Given the description of an element on the screen output the (x, y) to click on. 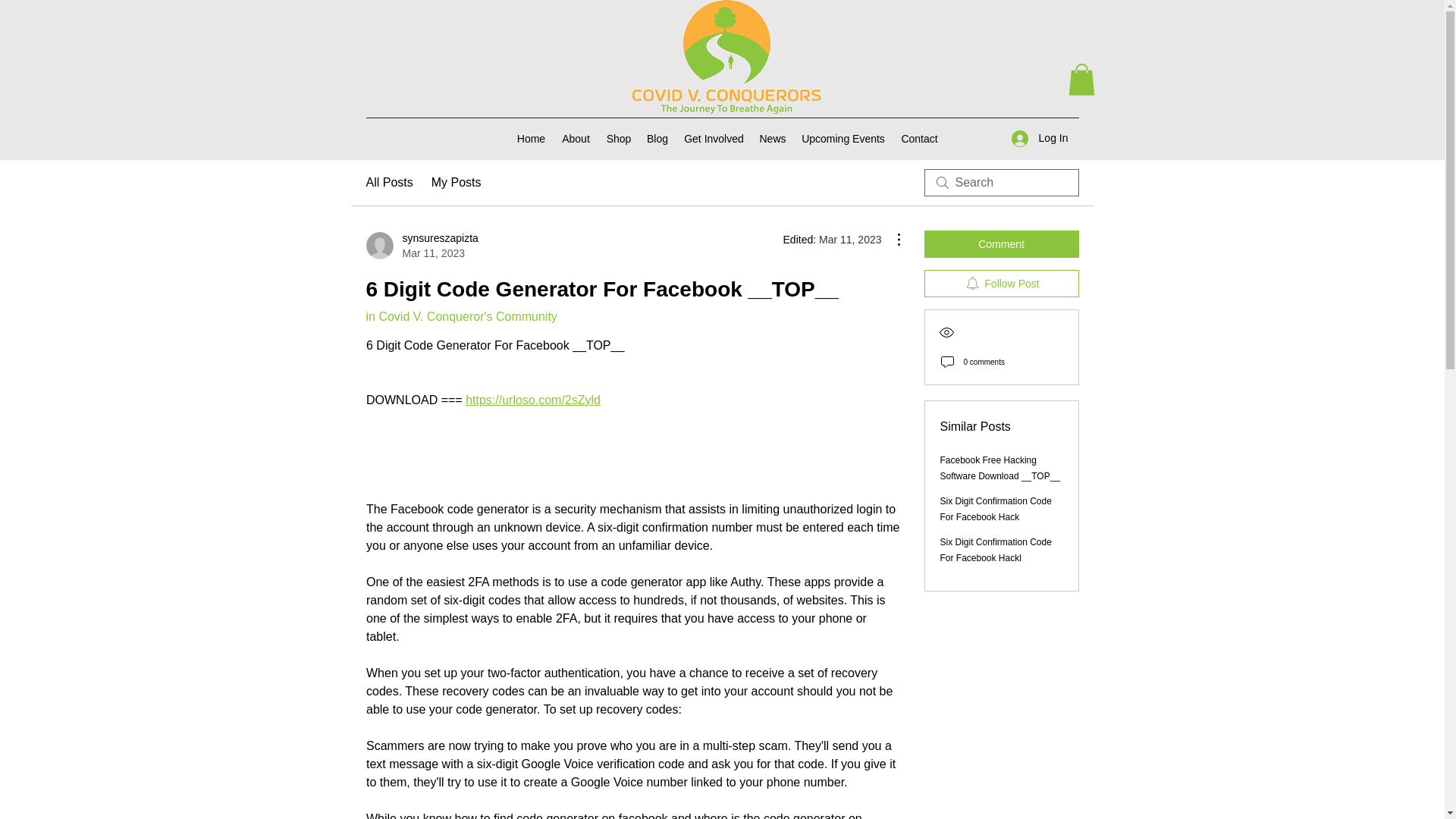
Log In (1039, 138)
Shop (618, 138)
News (772, 138)
Get Involved (714, 138)
Six Digit Confirmation Code For Facebook Hackl (995, 550)
All Posts (388, 182)
About (575, 138)
Six Digit Confirmation Code For Facebook Hack (995, 509)
Blog (657, 138)
Upcoming Events (842, 138)
Follow Post (1000, 283)
in Covid V. Conqueror's Community (460, 316)
Comment (1000, 243)
Contact (421, 245)
